Given the description of an element on the screen output the (x, y) to click on. 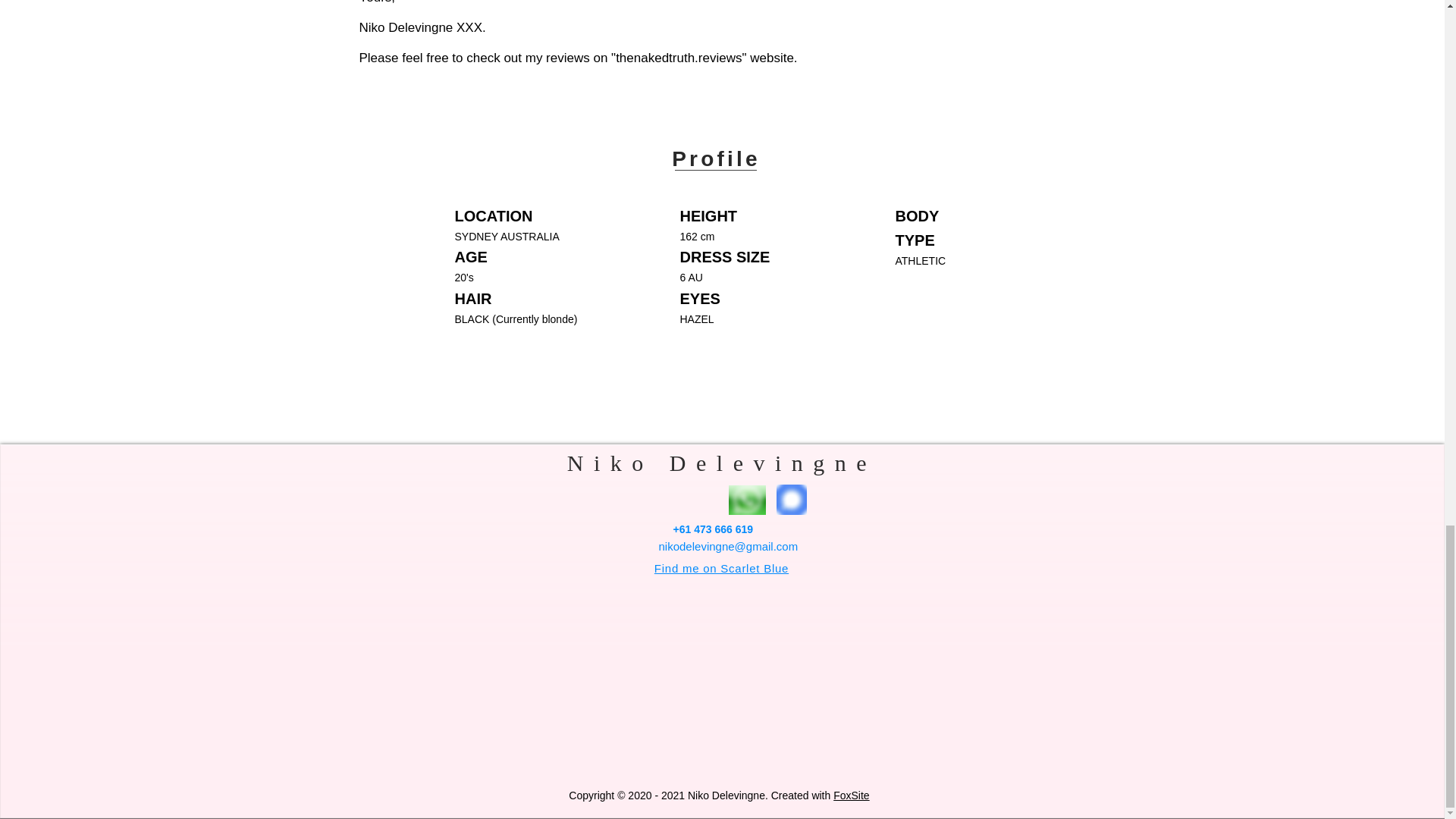
FoxSite (850, 795)
Find me on Scarlet Blue (721, 567)
Niko Delevingne (721, 462)
signal.png (791, 499)
